Given the description of an element on the screen output the (x, y) to click on. 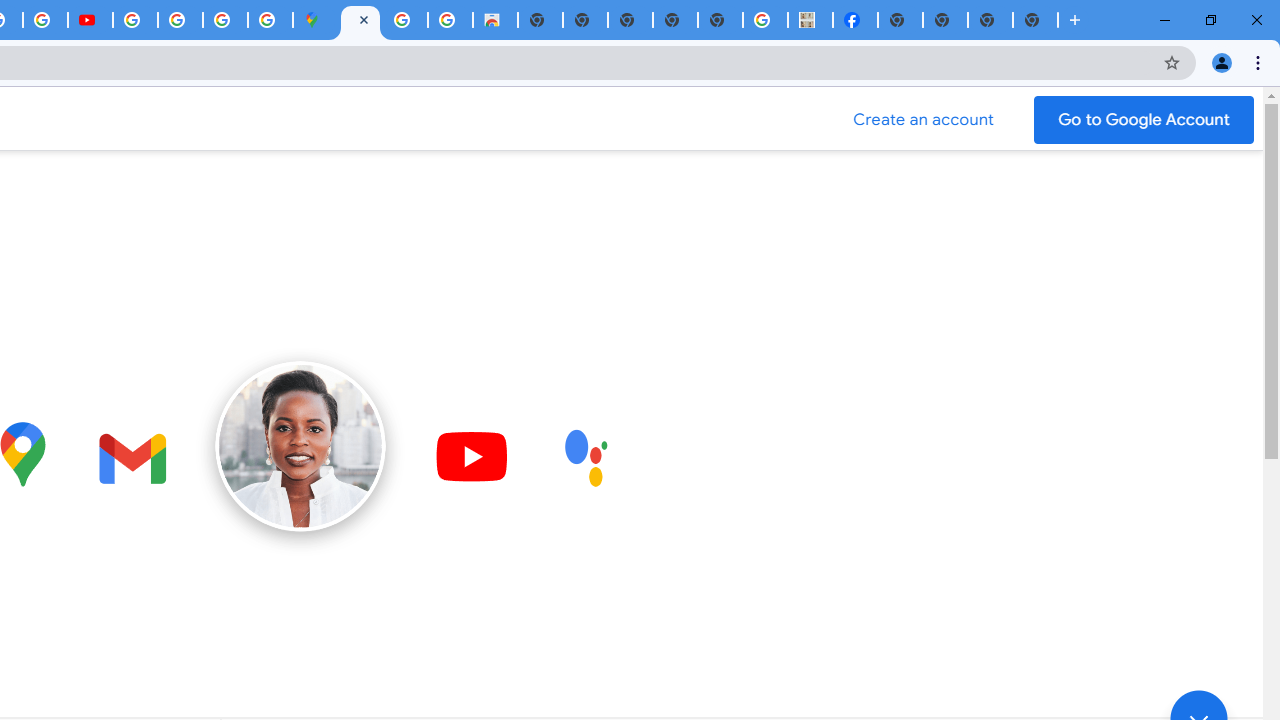
Chrome Web Store - Shopping (495, 20)
Go to your Google Account (1144, 119)
Google Maps (315, 20)
